Given the description of an element on the screen output the (x, y) to click on. 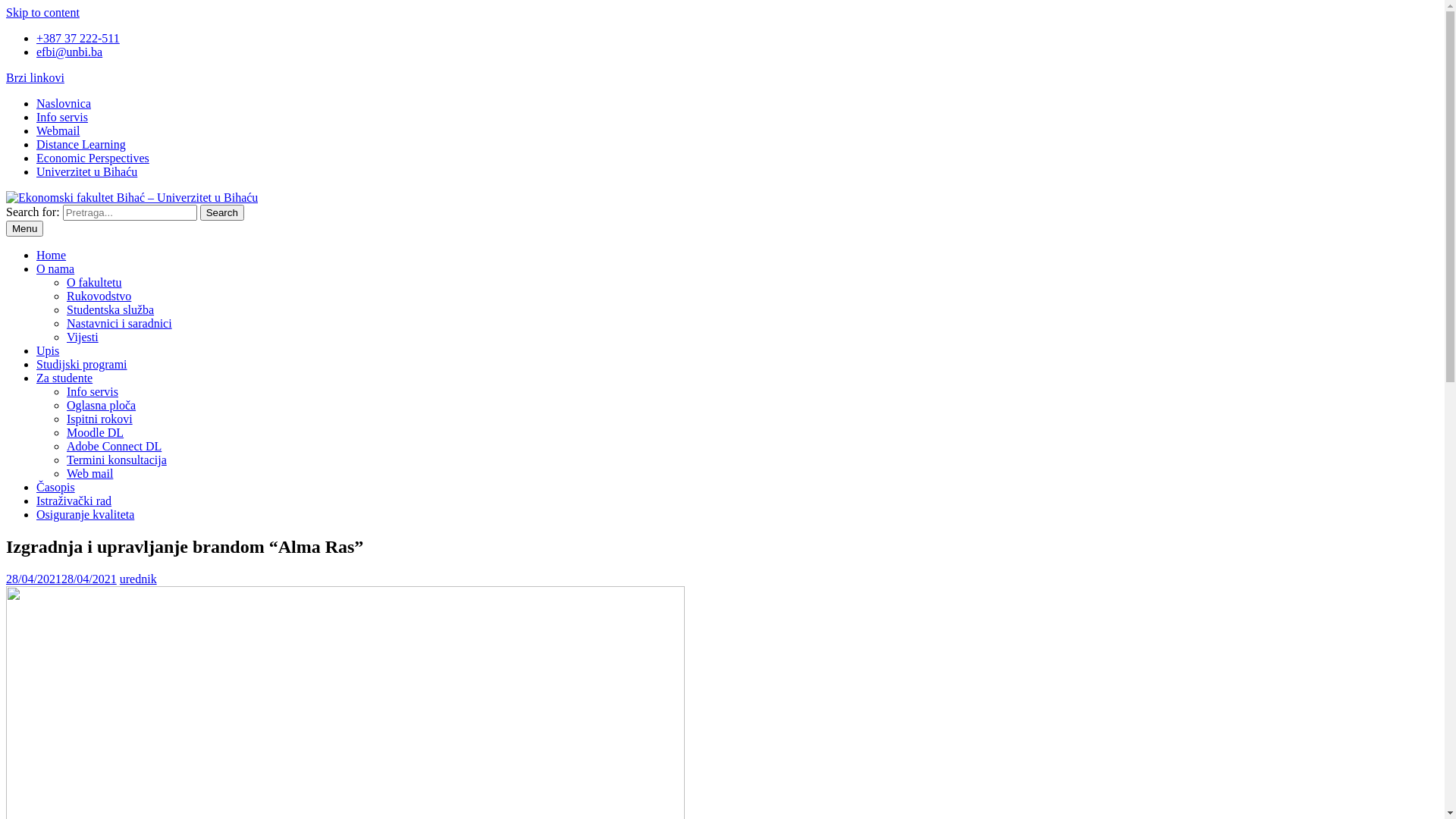
Studijski programi Element type: text (81, 363)
Distance Learning Element type: text (80, 144)
Za studente Element type: text (64, 377)
O nama Element type: text (55, 268)
Nastavnici i saradnici Element type: text (119, 322)
Brzi linkovi Element type: text (35, 77)
Adobe Connect DL Element type: text (113, 445)
28/04/202128/04/2021 Element type: text (61, 578)
efbi@unbi.ba Element type: text (69, 51)
Naslovnica Element type: text (63, 103)
+387 37 222-511 Element type: text (77, 37)
Webmail Element type: text (57, 130)
Web mail Element type: text (89, 473)
Home Element type: text (50, 254)
Search for: Element type: hover (129, 212)
Economic Perspectives Element type: text (92, 157)
O fakultetu Element type: text (93, 282)
Info servis Element type: text (92, 391)
Moodle DL Element type: text (94, 432)
Search Element type: text (222, 212)
urednik Element type: text (137, 578)
Skip to content Element type: text (42, 12)
Upis Element type: text (47, 350)
Termini konsultacija Element type: text (116, 459)
Menu Element type: text (24, 228)
Osiguranje kvaliteta Element type: text (85, 514)
Info servis Element type: text (61, 116)
Vijesti Element type: text (82, 336)
Ispitni rokovi Element type: text (99, 418)
Rukovodstvo Element type: text (98, 295)
